Given the description of an element on the screen output the (x, y) to click on. 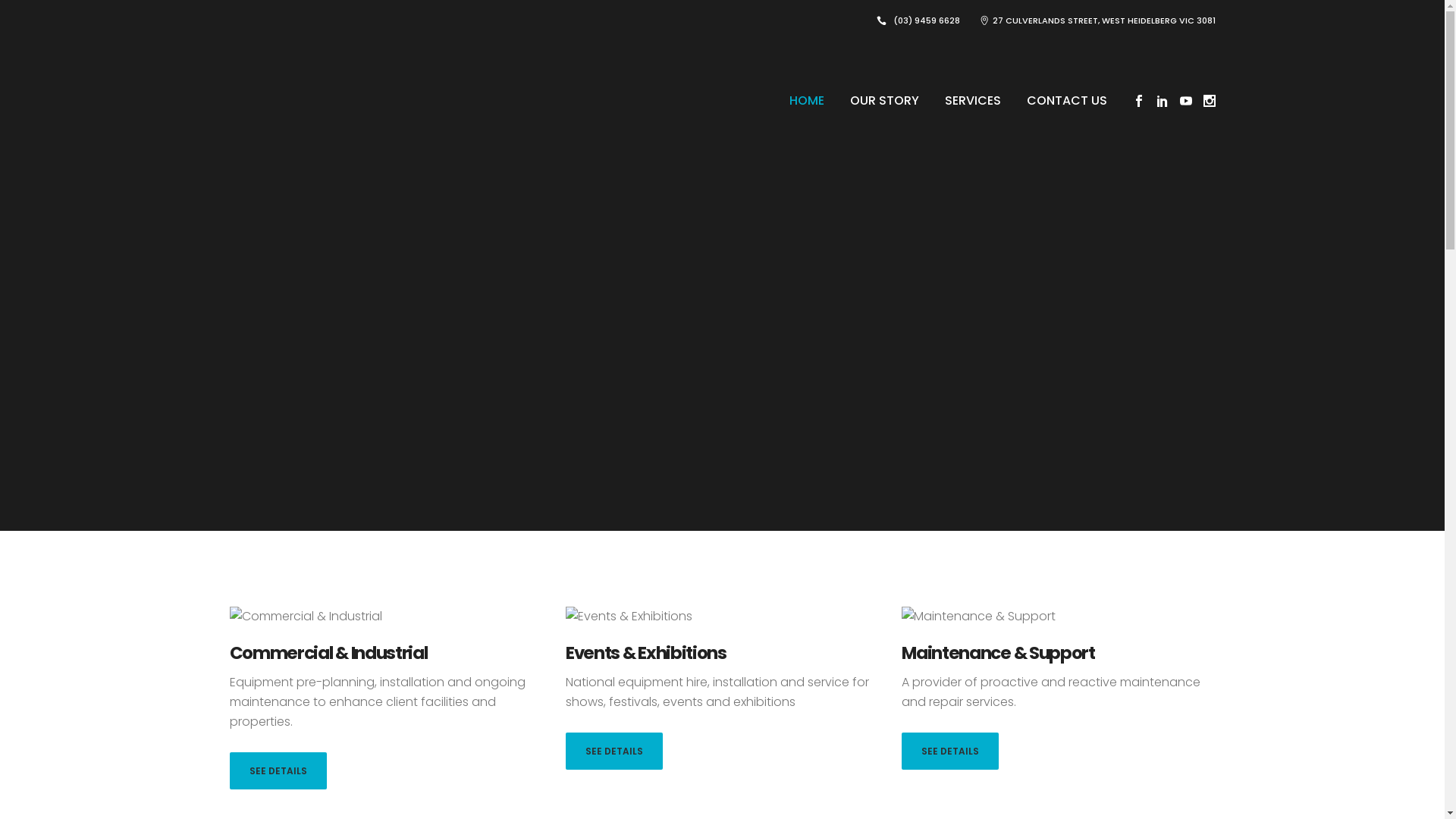
CONTACT US Element type: text (1066, 100)
SEE DETAILS Element type: text (277, 770)
HOME Element type: text (806, 100)
OUR STORY Element type: text (884, 100)
SERVICES Element type: text (972, 100)
SEE DETAILS Element type: text (949, 750)
SEE DETAILS Element type: text (613, 750)
